Given the description of an element on the screen output the (x, y) to click on. 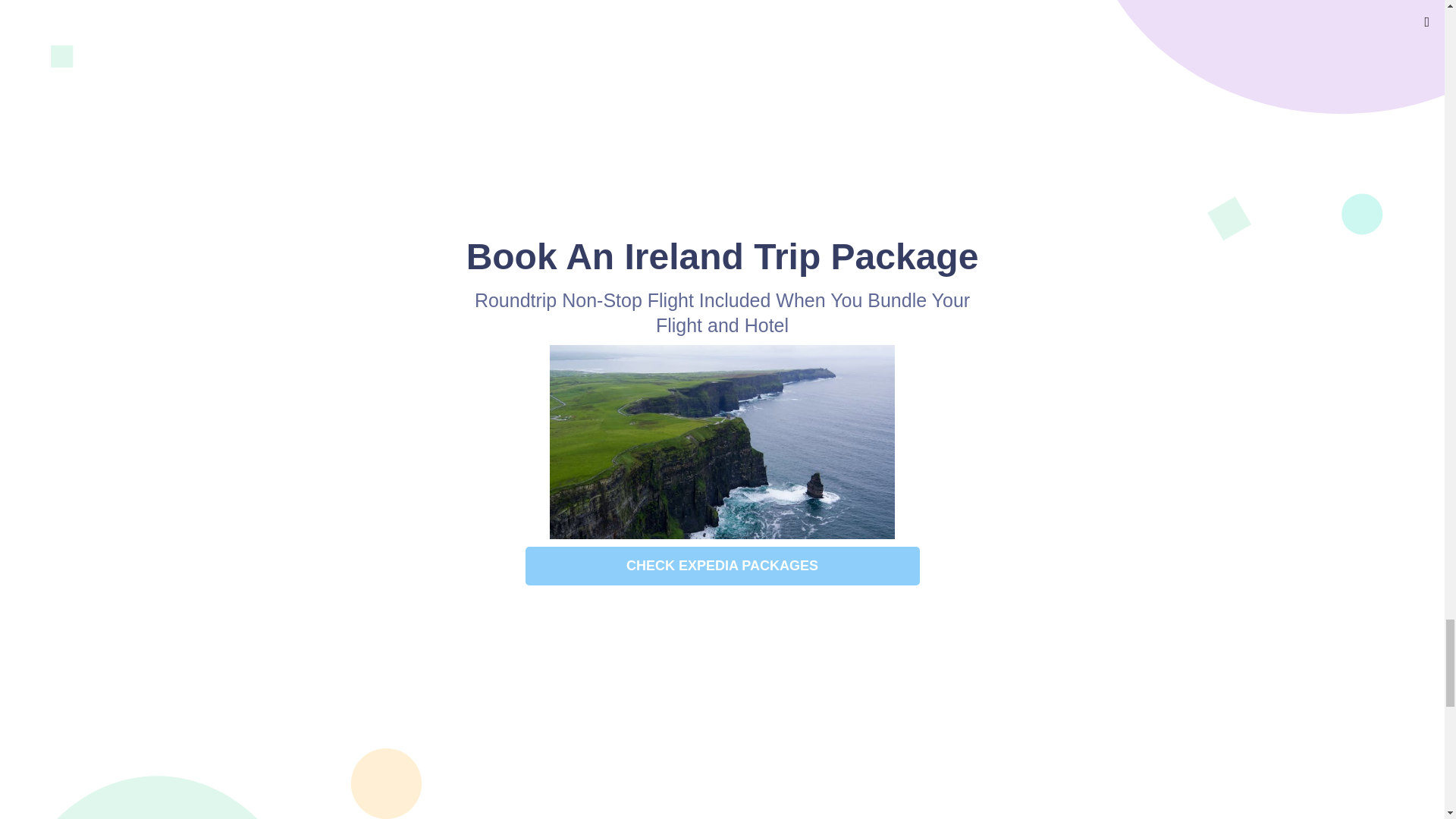
Ryan Nelson (606, 809)
